Given the description of an element on the screen output the (x, y) to click on. 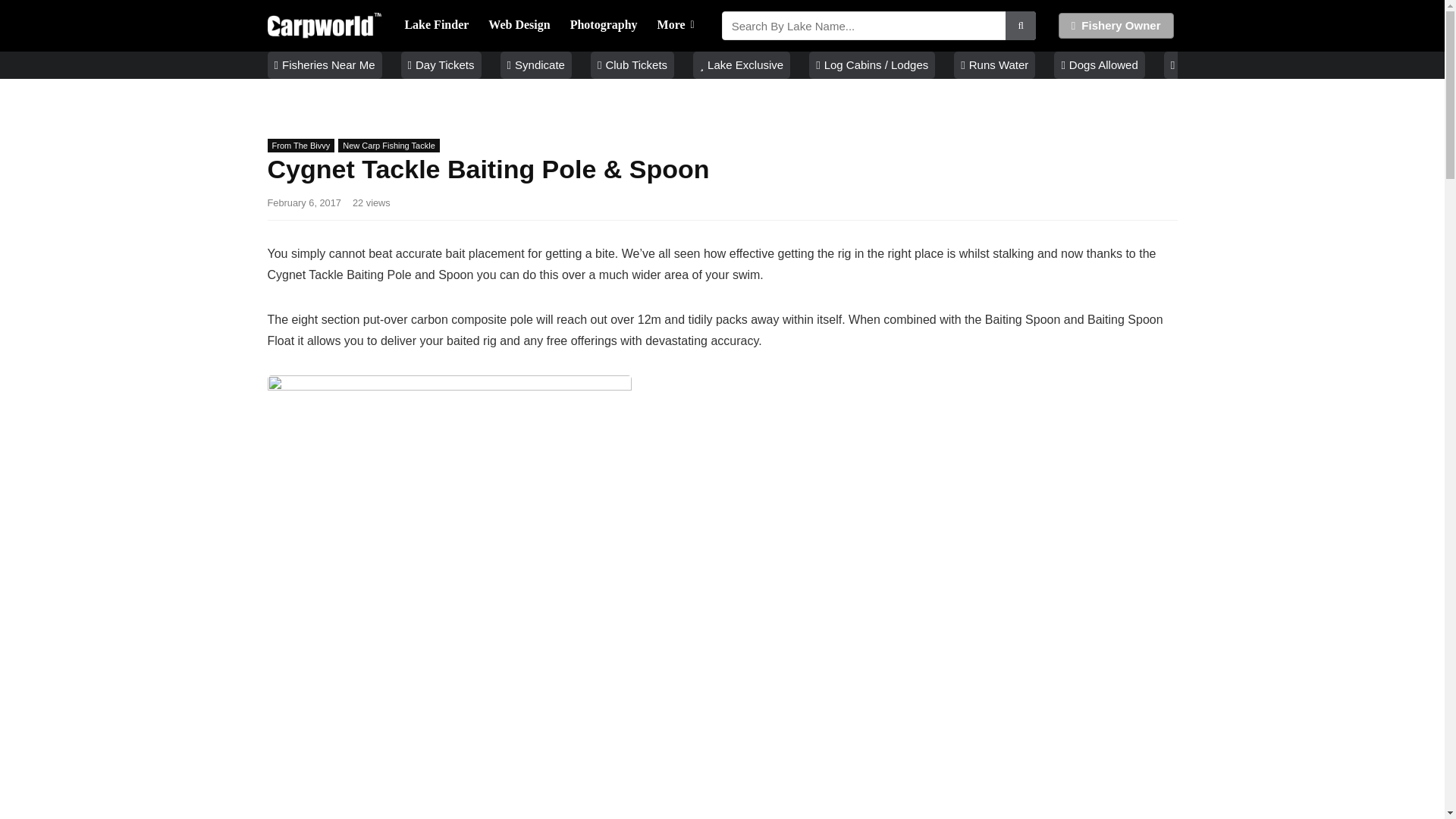
From The Bivvy (300, 145)
New Carp Fishing Tackle (388, 145)
View all posts in From The Bivvy (300, 145)
Fishery Finder (436, 25)
Syndicate (536, 64)
Campervan Friendly (1225, 64)
Dogs Allowed (1099, 64)
Day Tickets (441, 64)
Photography (603, 25)
Runs Water (994, 64)
Web Design (519, 25)
Fishery Owner (1115, 25)
Lake Finder (436, 25)
Lake Exclusive (741, 64)
Carp Fisheries and lakes list (323, 64)
